Given the description of an element on the screen output the (x, y) to click on. 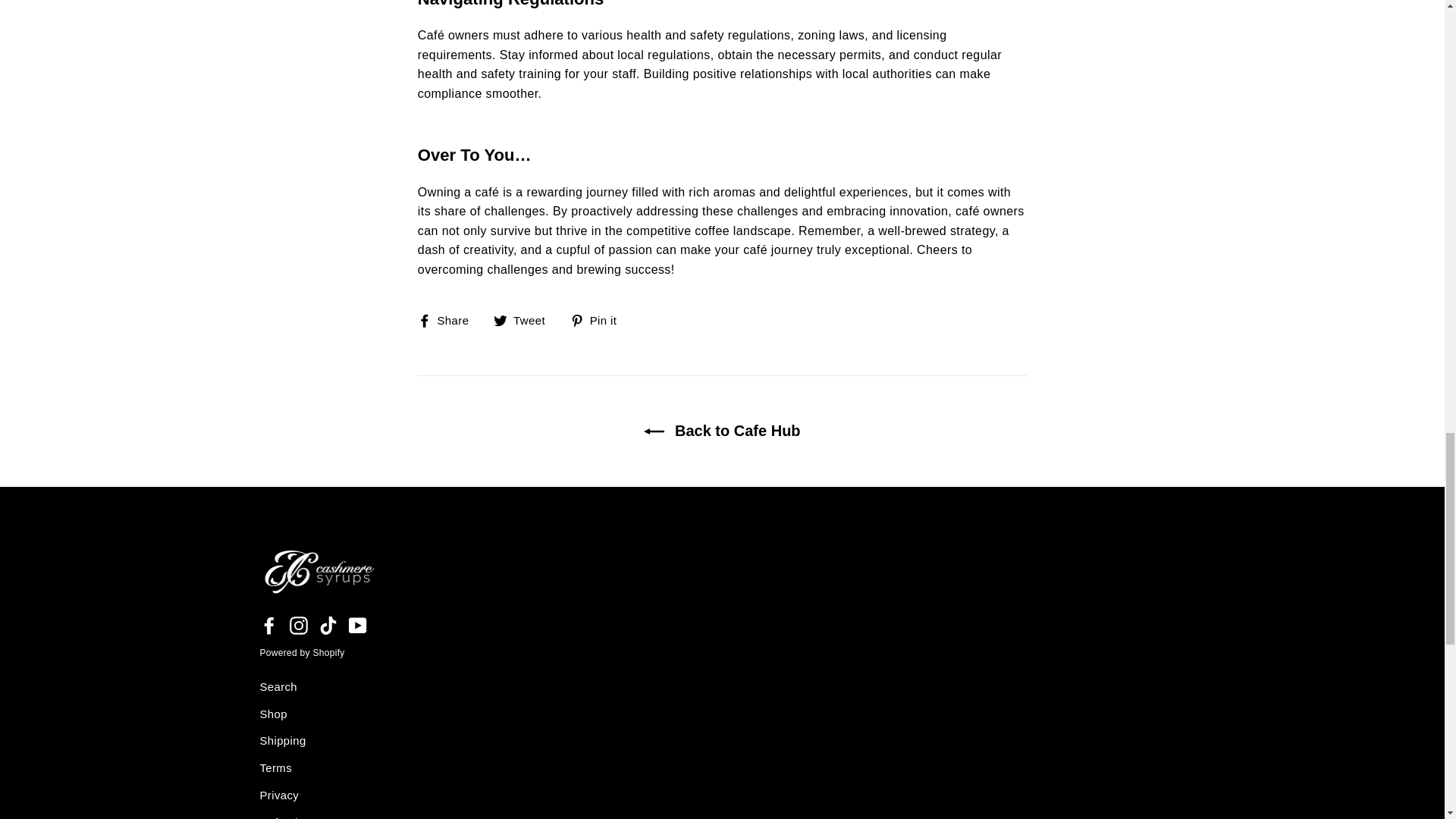
Pin on Pinterest (598, 319)
Cashmere Syrups on Instagram (298, 624)
Share on Facebook (448, 319)
Cashmere Syrups on TikTok (327, 624)
Cashmere Syrups on YouTube (357, 624)
Cashmere Syrups on Facebook (268, 624)
Tweet on Twitter (524, 319)
